Given the description of an element on the screen output the (x, y) to click on. 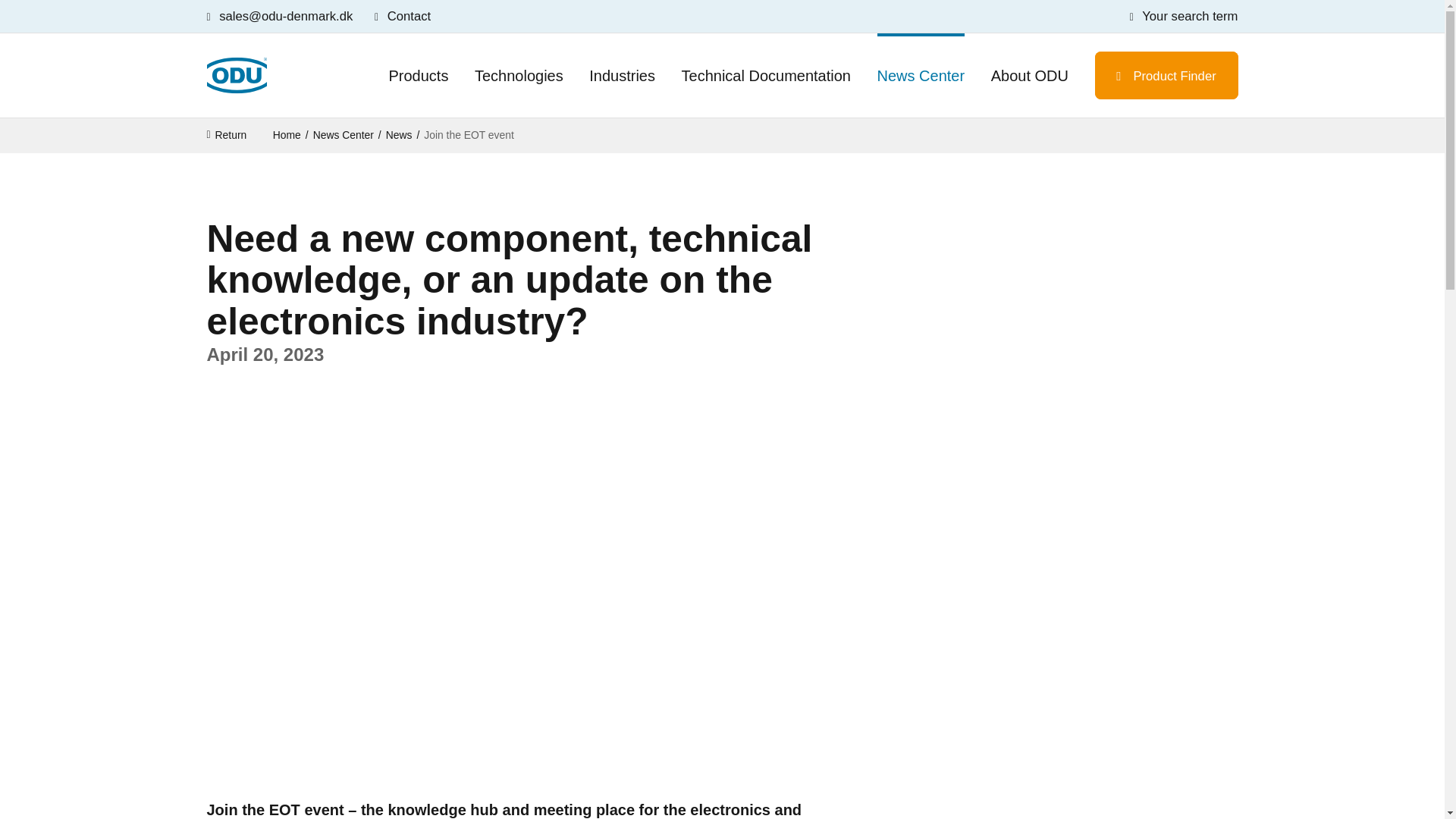
Contact (402, 16)
Products (418, 75)
Technologies (518, 75)
